Given the description of an element on the screen output the (x, y) to click on. 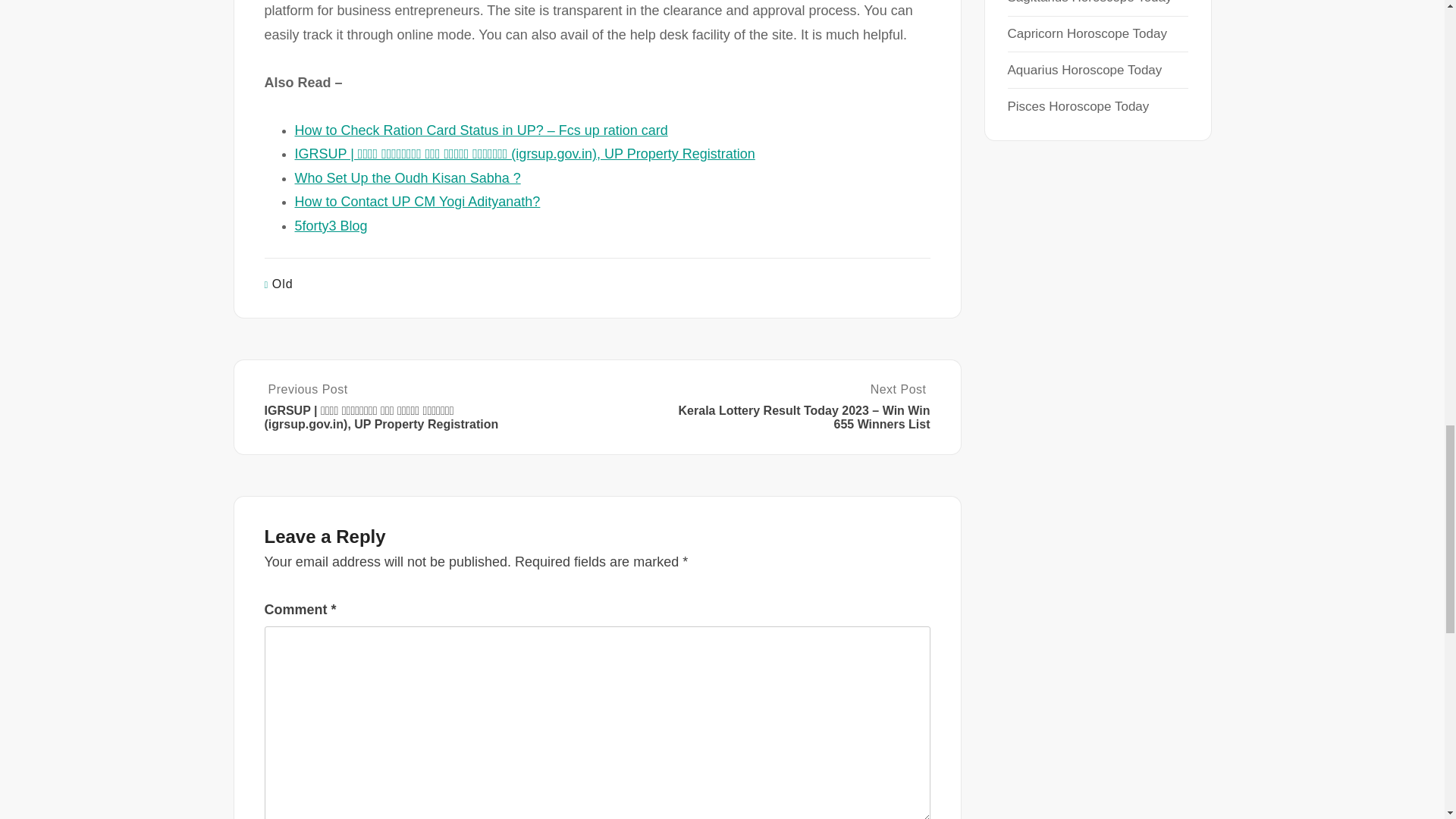
5forty3 Blog (330, 225)
Old (283, 283)
How to Contact UP CM Yogi Adityanath? (417, 201)
Who Set Up the Oudh Kisan Sabha ? (406, 177)
